Given the description of an element on the screen output the (x, y) to click on. 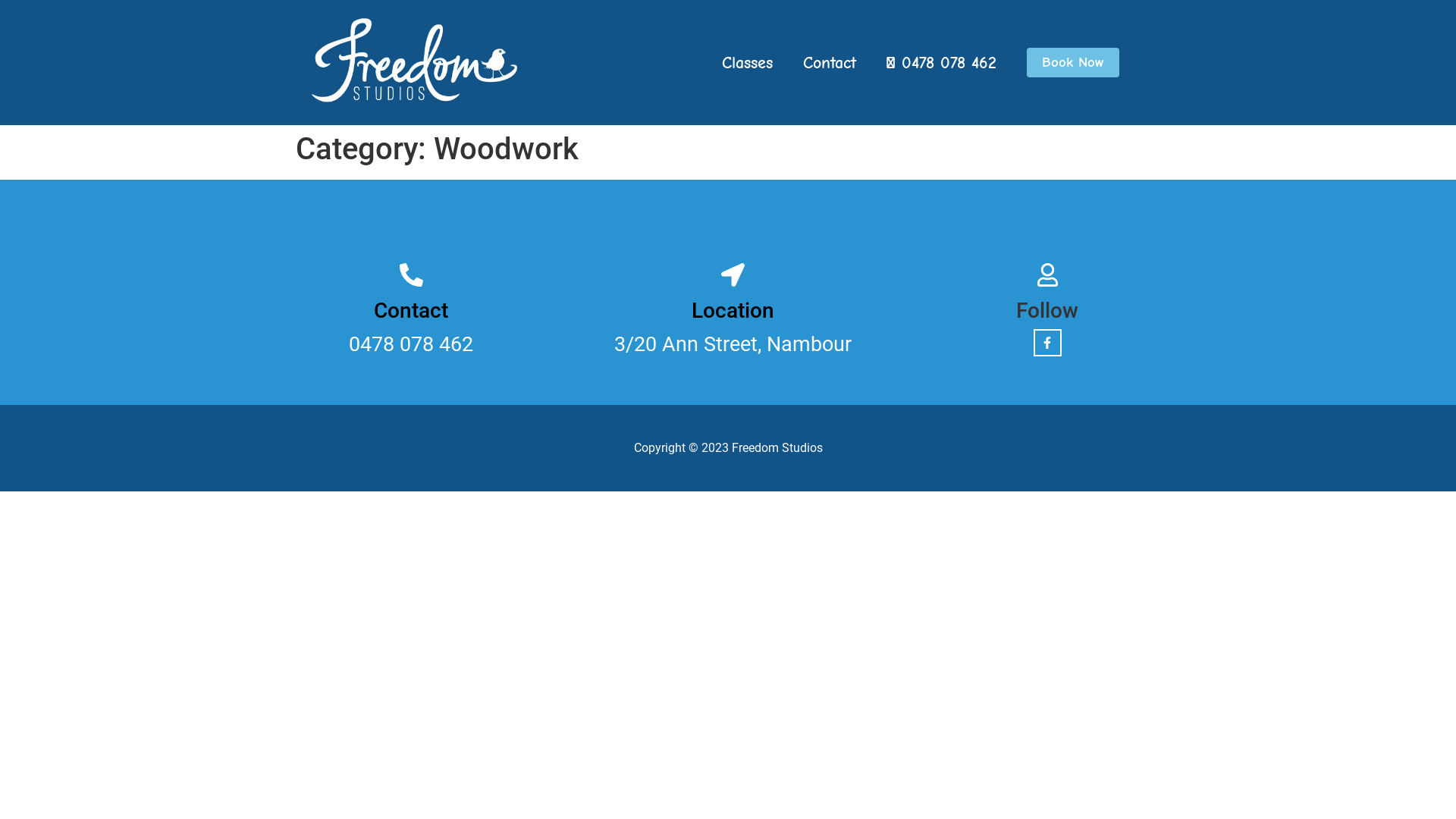
Contact Element type: text (829, 62)
Classes Element type: text (746, 62)
Book Now Element type: text (1072, 62)
